Given the description of an element on the screen output the (x, y) to click on. 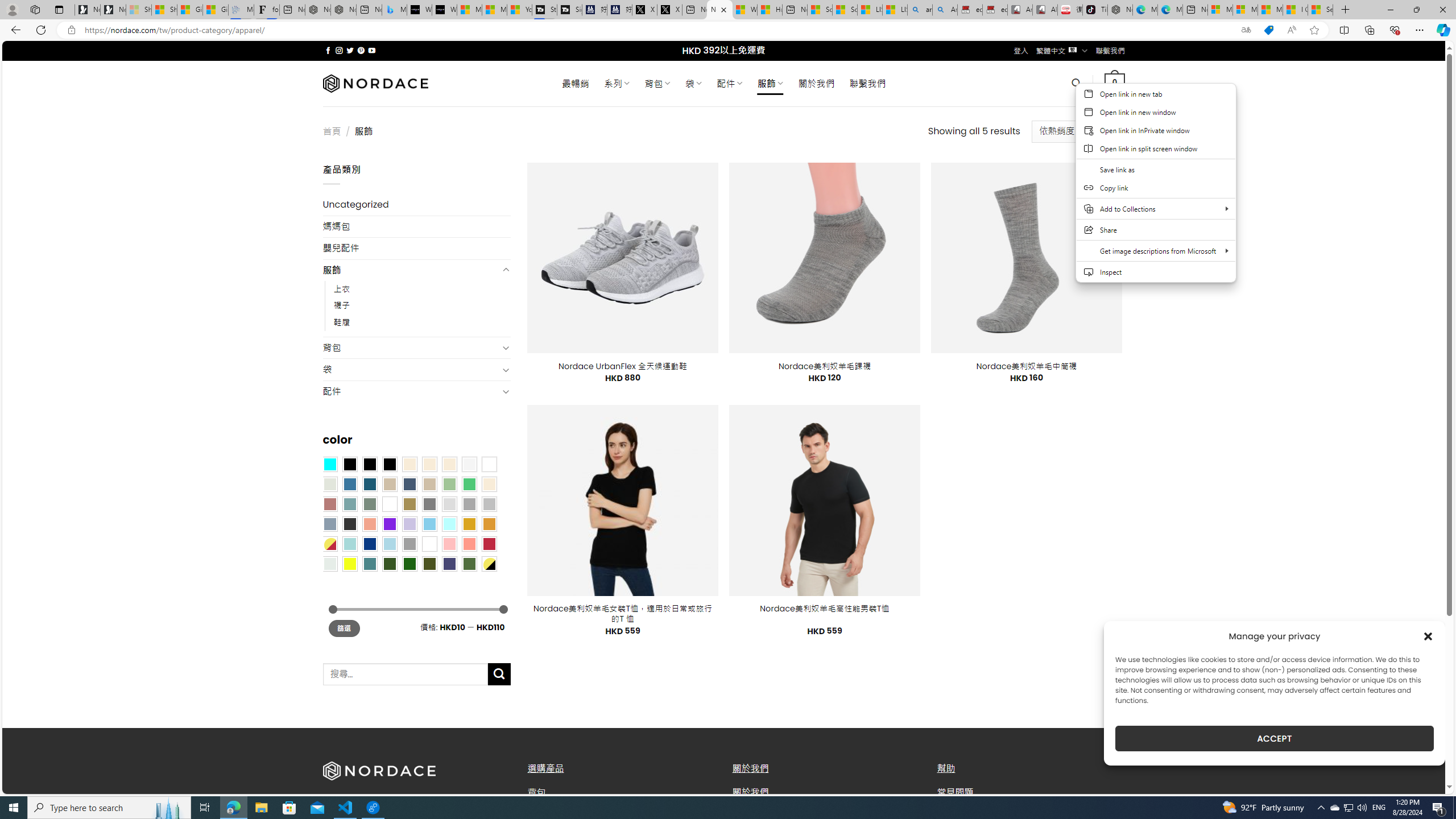
Gilma and Hector both pose tropical trouble for Hawaii (215, 9)
Newsletter Sign Up (113, 9)
